Given the description of an element on the screen output the (x, y) to click on. 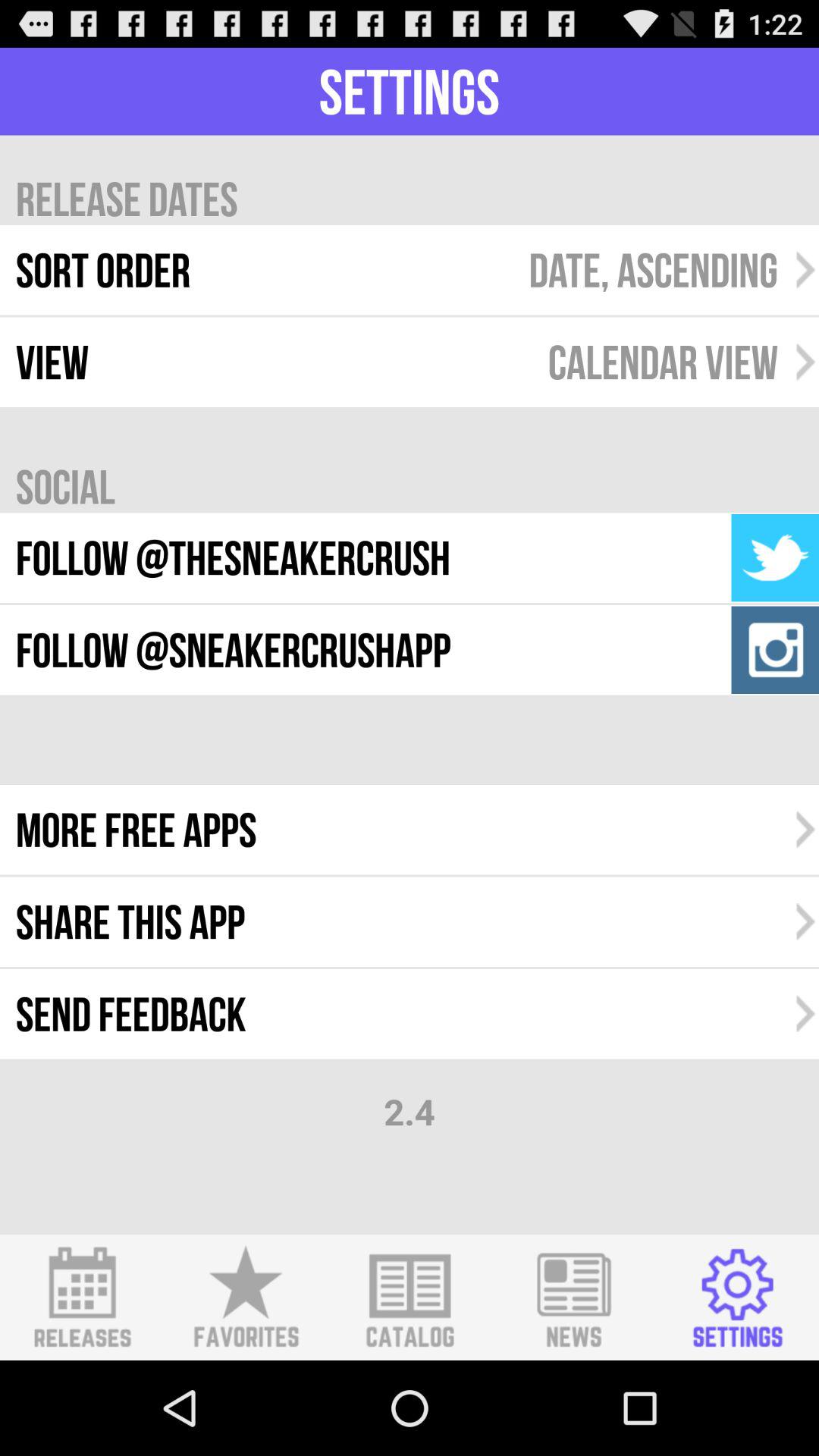
select the calendar view icon (663, 362)
